Given the description of an element on the screen output the (x, y) to click on. 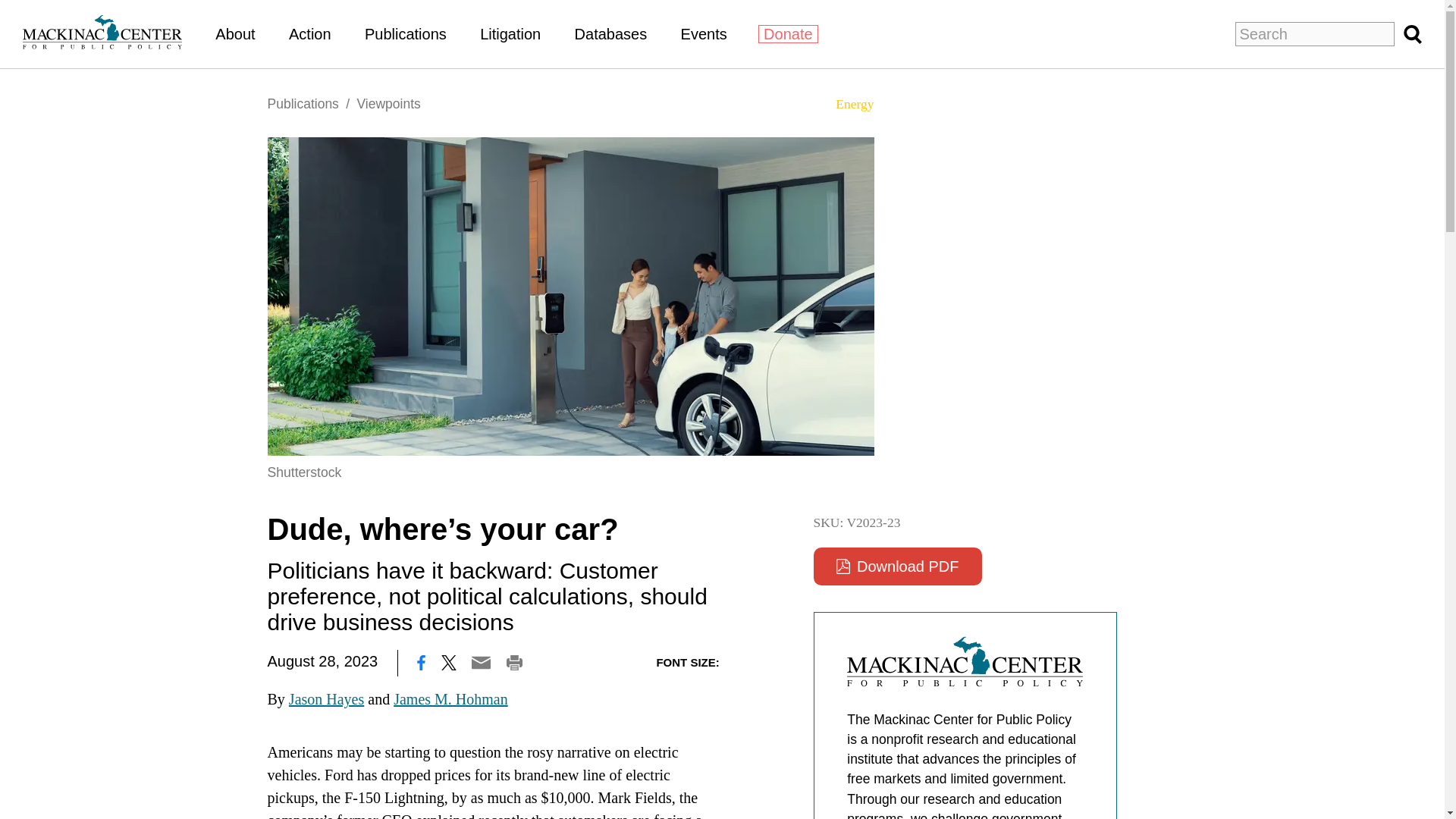
Events (703, 33)
Energy (848, 103)
About (234, 33)
Viewpoints (388, 103)
Donate (788, 34)
Databases (611, 33)
Download PDF (896, 566)
Publications (301, 103)
Publications (405, 33)
Litigation (510, 33)
